Given the description of an element on the screen output the (x, y) to click on. 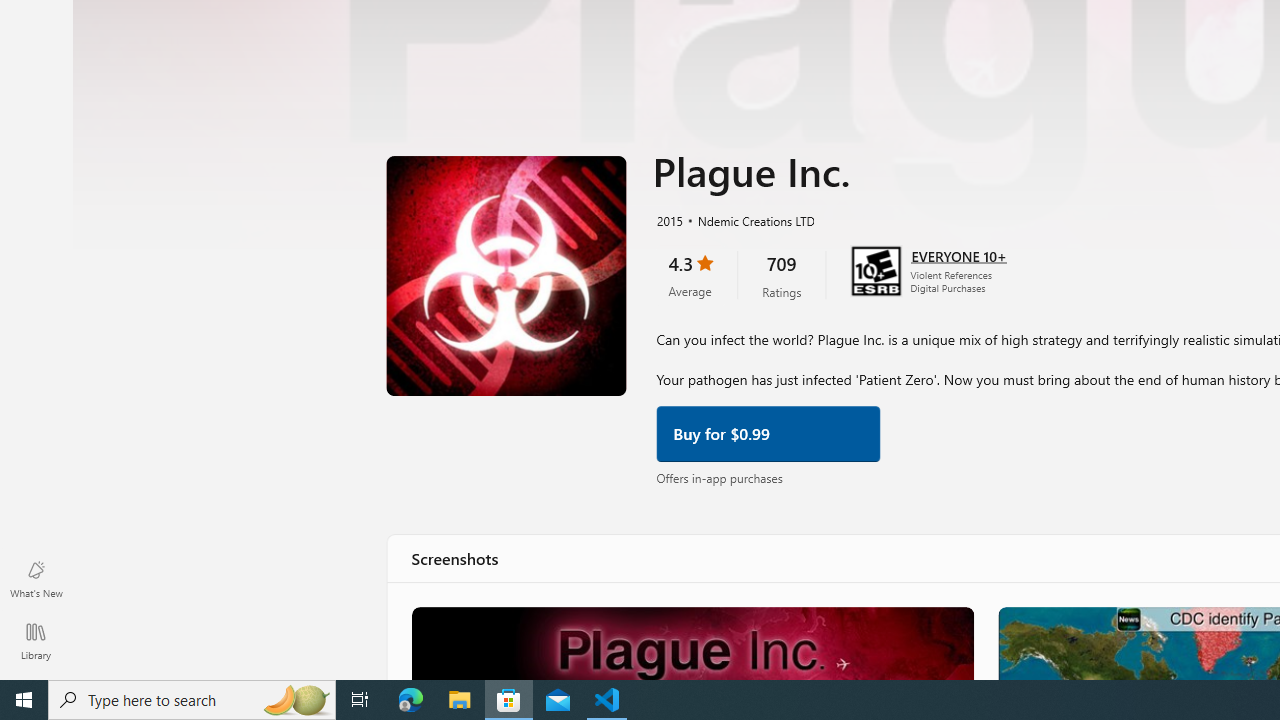
What's New (35, 578)
Age rating: EVERYONE 10+. Click for more information. (958, 254)
2015 (667, 218)
Library (35, 640)
Screenshot 1 (691, 642)
4.3 stars. Click to skip to ratings and reviews (689, 273)
Ndemic Creations LTD (748, 218)
Buy (767, 432)
